Given the description of an element on the screen output the (x, y) to click on. 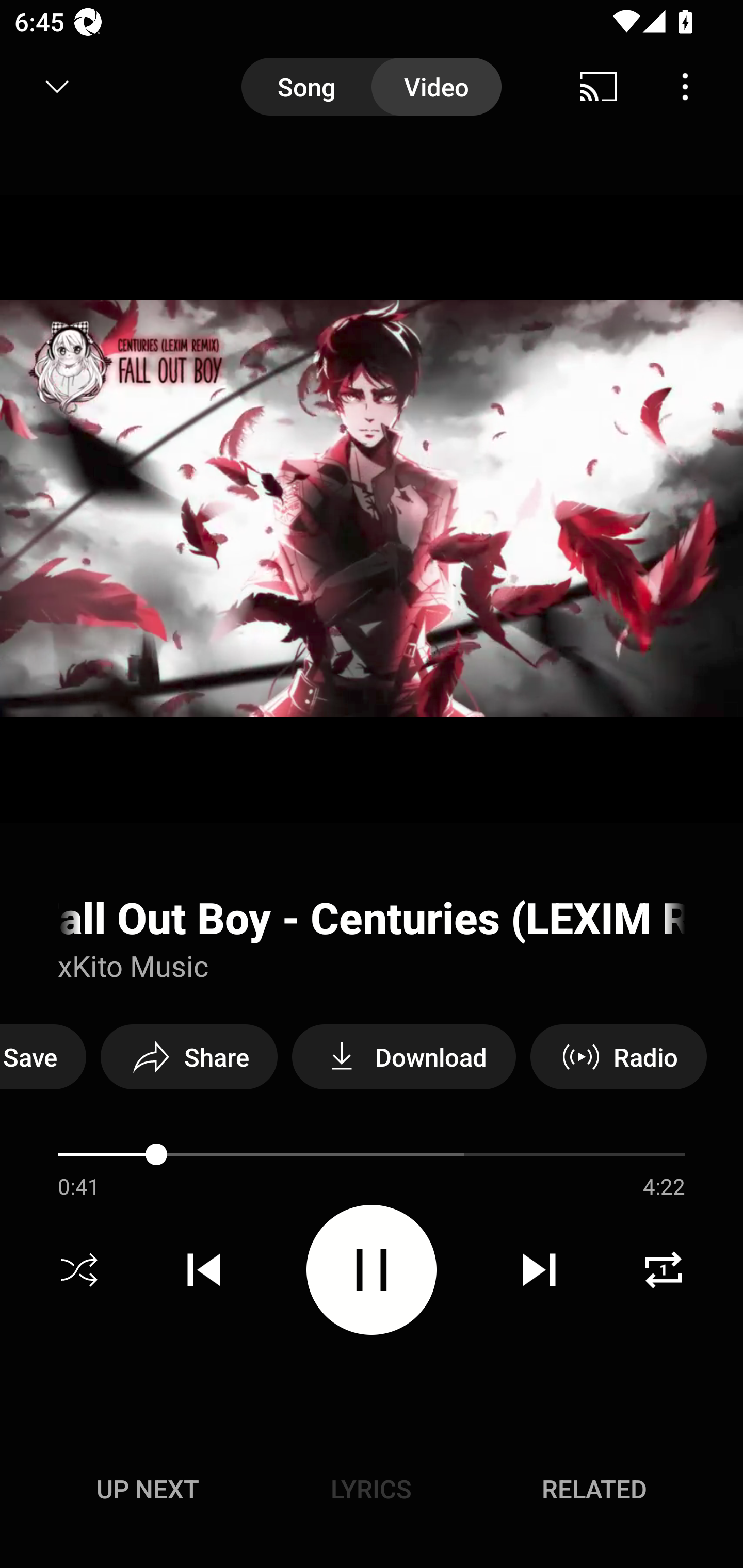
Back (50, 86)
Cast. Disconnected (598, 86)
Menu (684, 86)
Save Save to playlist (43, 1056)
Share (188, 1056)
Download (403, 1056)
Radio (618, 1056)
Pause video (371, 1269)
Shuffle off (79, 1269)
Previous track (203, 1269)
Next track (538, 1269)
Repeat one (663, 1269)
Up next UP NEXT Lyrics LYRICS Related RELATED (371, 1491)
Lyrics LYRICS (370, 1488)
Related RELATED (594, 1488)
